Given the description of an element on the screen output the (x, y) to click on. 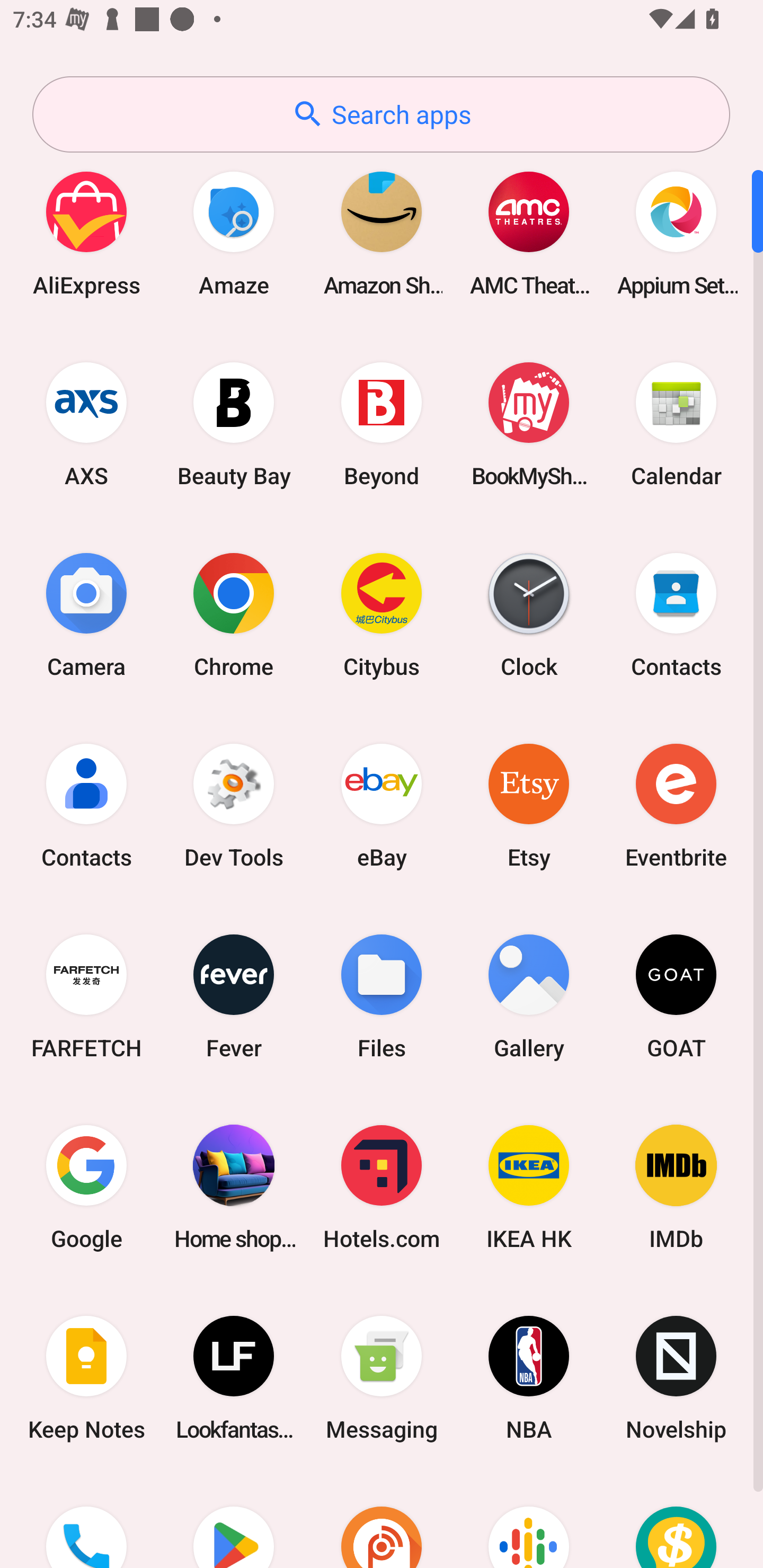
  Search apps (381, 114)
AliExpress (86, 233)
Amaze (233, 233)
Amazon Shopping (381, 233)
AMC Theatres (528, 233)
Appium Settings (676, 233)
AXS (86, 424)
Beauty Bay (233, 424)
Beyond (381, 424)
BookMyShow (528, 424)
Calendar (676, 424)
Camera (86, 614)
Chrome (233, 614)
Citybus (381, 614)
Clock (528, 614)
Contacts (676, 614)
Contacts (86, 805)
Dev Tools (233, 805)
eBay (381, 805)
Etsy (528, 805)
Eventbrite (676, 805)
FARFETCH (86, 996)
Fever (233, 996)
Files (381, 996)
Gallery (528, 996)
GOAT (676, 996)
Google (86, 1186)
Home shopping (233, 1186)
Hotels.com (381, 1186)
IKEA HK (528, 1186)
IMDb (676, 1186)
Keep Notes (86, 1377)
Lookfantastic (233, 1377)
Messaging (381, 1377)
NBA (528, 1377)
Novelship (676, 1377)
Phone (86, 1520)
Play Store (233, 1520)
Podcast Addict (381, 1520)
Podcasts (528, 1520)
Price (676, 1520)
